Given the description of an element on the screen output the (x, y) to click on. 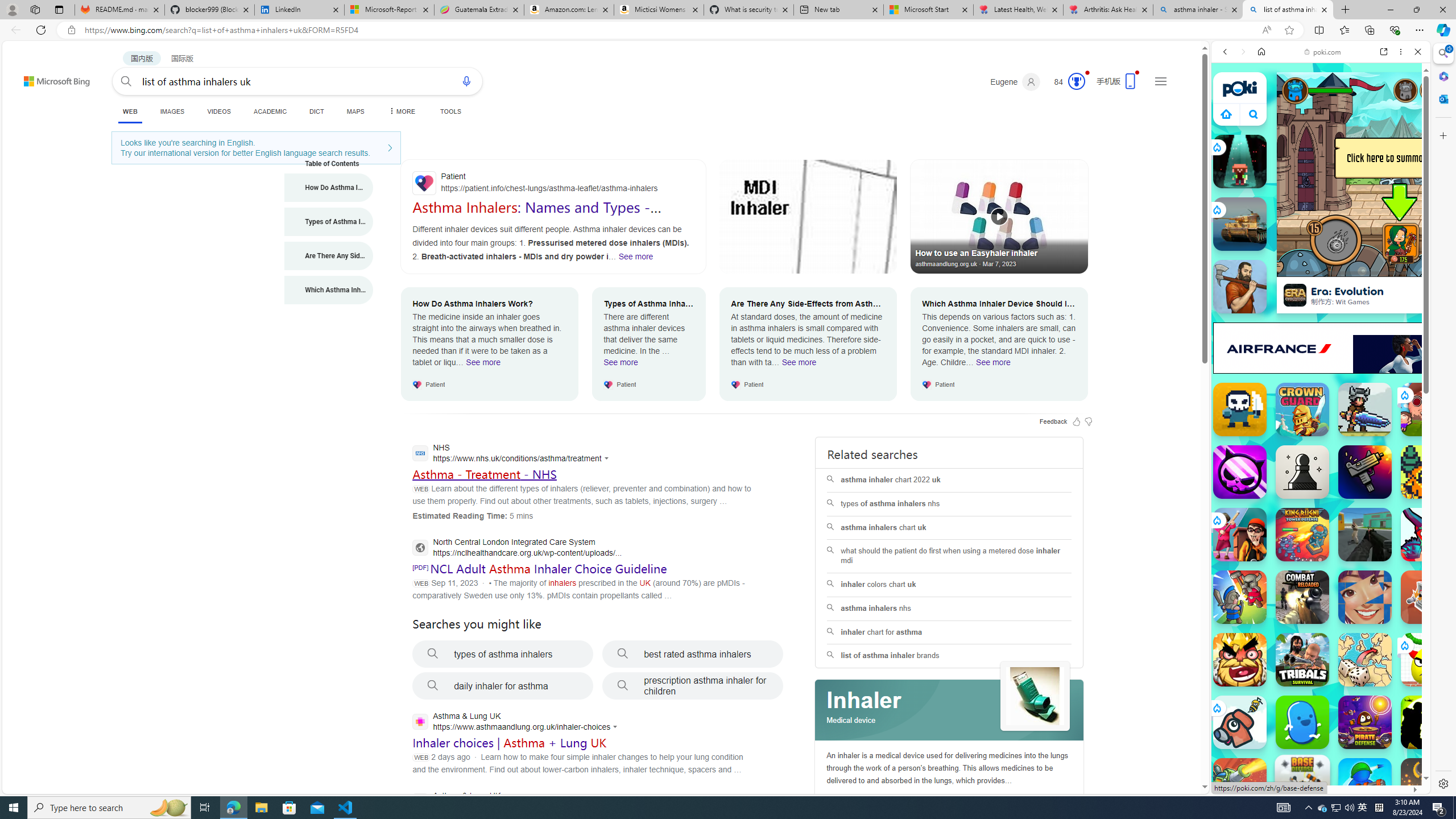
School Escape! (1239, 534)
MAPS (355, 111)
War Master War Master (1364, 784)
Class: hvLtMSipvVng82x9Seuh (1294, 295)
Tribals.io Tribals.io (1302, 659)
Io Games (1320, 351)
Which Asthma Inhaler Device Should I use? (328, 290)
See more images of Inhaler (1035, 697)
Settings and quick links (1160, 80)
